Given the description of an element on the screen output the (x, y) to click on. 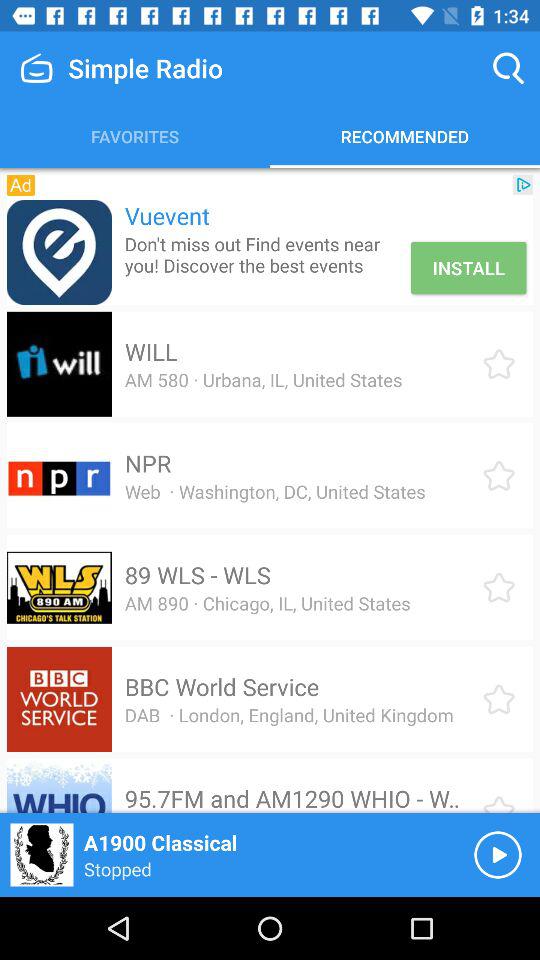
tap the icon above npr (263, 379)
